Given the description of an element on the screen output the (x, y) to click on. 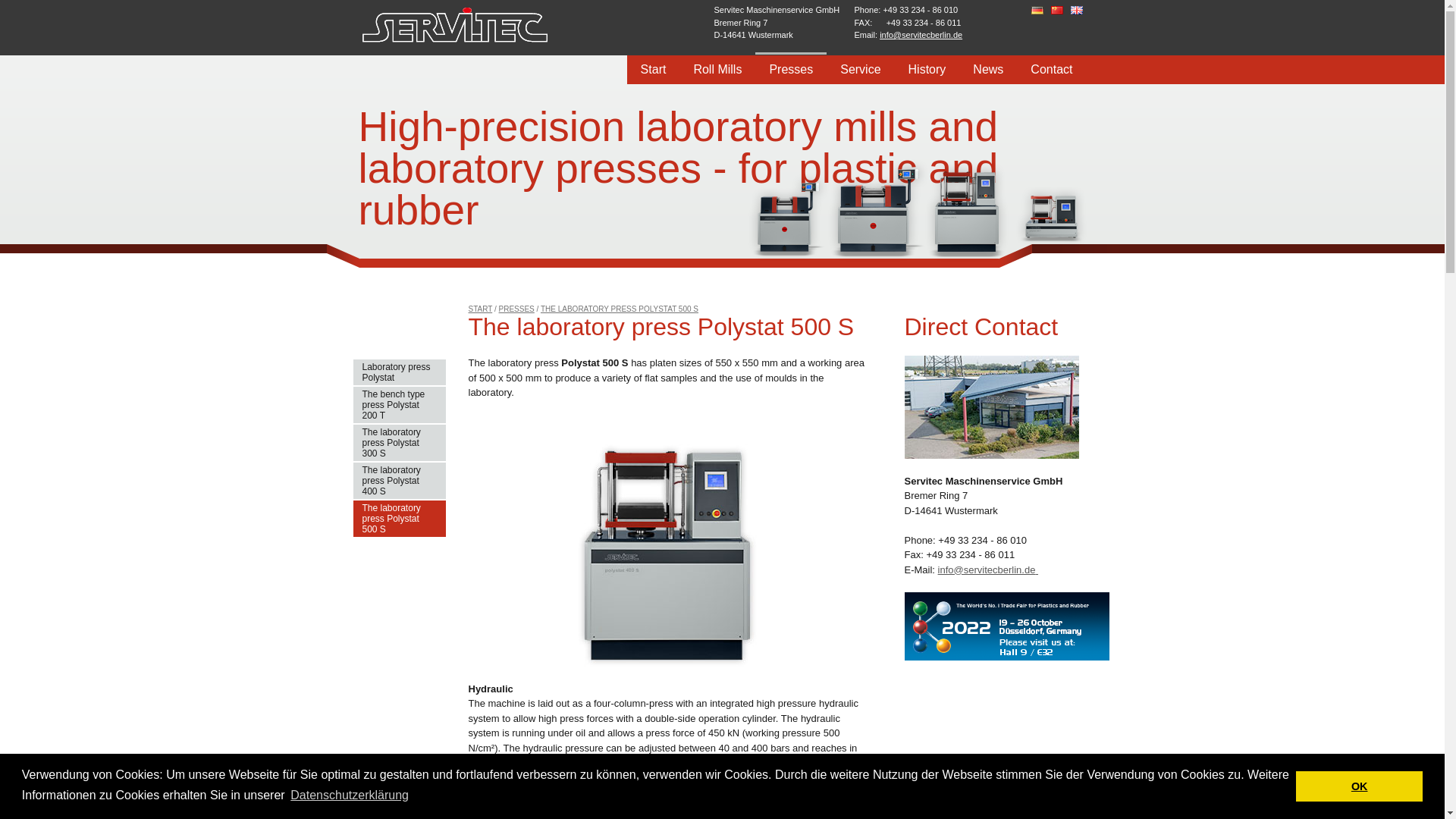
News (987, 68)
THE LABORATORY PRESS POLYSTAT 500 S (619, 308)
Start (653, 68)
The laboratory press Polystat 400 S (399, 480)
Presses (516, 308)
The laboratory press Polystat 500 S (399, 518)
Service - Services of Servitec Maschinenservice GmbH (860, 68)
Roll Mills - Servitec Polymix laboratory roll mills (717, 68)
Start (480, 308)
The bench type press Polystat 200 T (399, 404)
